Given the description of an element on the screen output the (x, y) to click on. 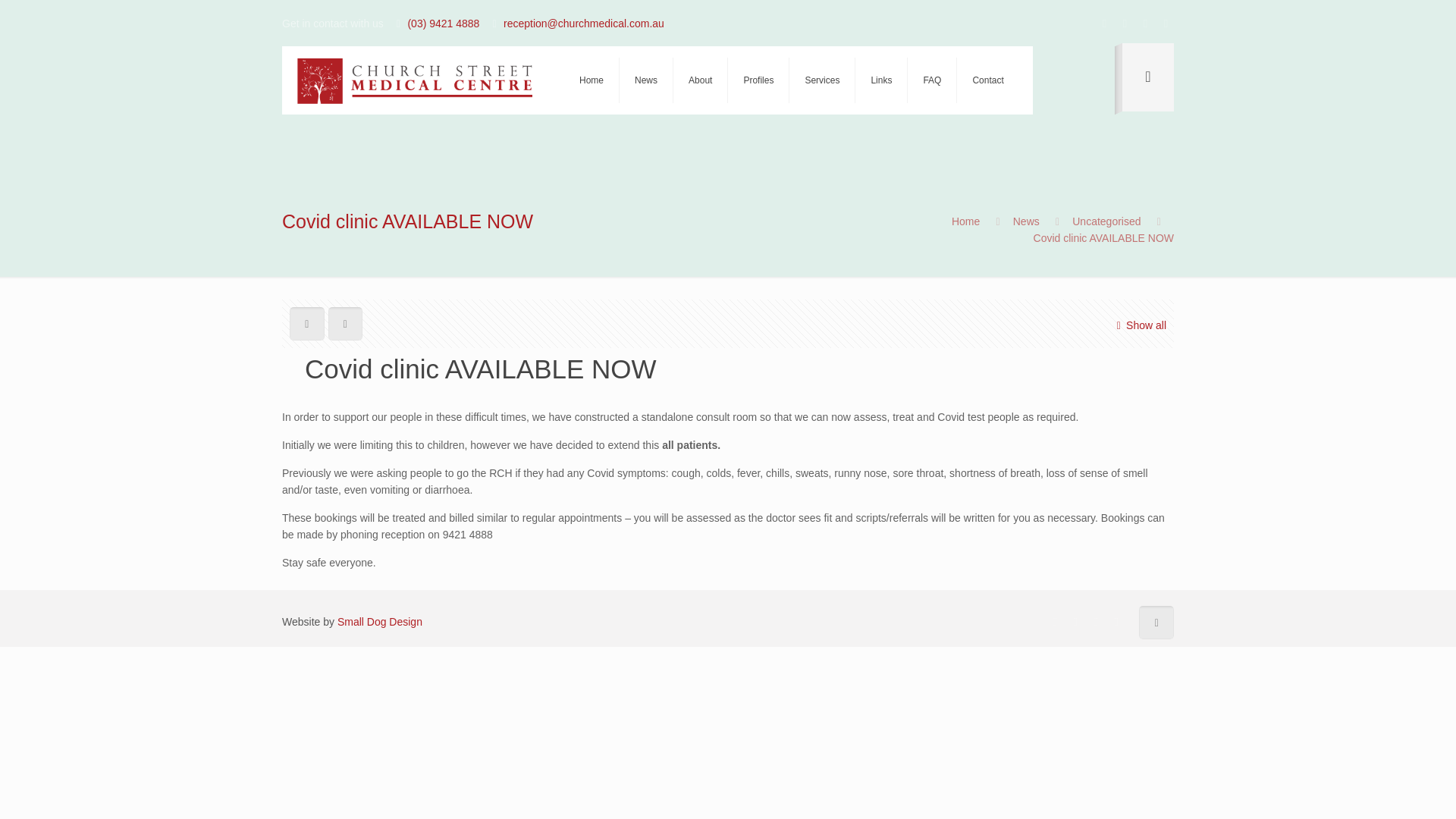
Home (965, 221)
Small Dog Design (379, 621)
News (1026, 221)
LinkedIn (1116, 621)
Uncategorised (1105, 221)
Twitter (1095, 621)
Facebook (1054, 621)
Profiles (758, 79)
Covid clinic AVAILABLE NOW (1103, 237)
Facebook (1104, 22)
Services (822, 79)
Twitter (1145, 22)
Contact (986, 79)
Show all (1138, 325)
Church Street Medical (419, 79)
